Given the description of an element on the screen output the (x, y) to click on. 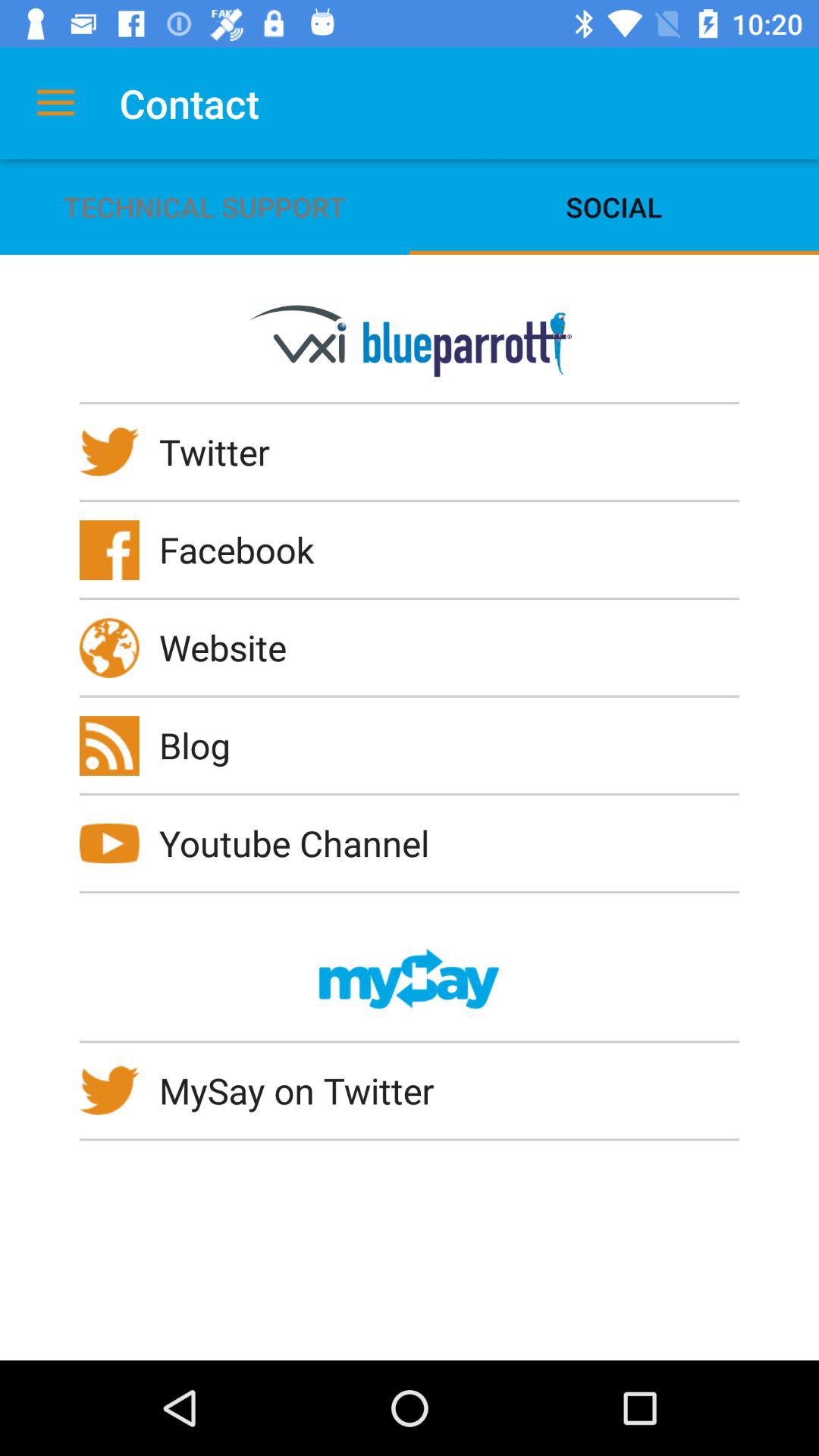
turn on facebook icon (246, 549)
